Given the description of an element on the screen output the (x, y) to click on. 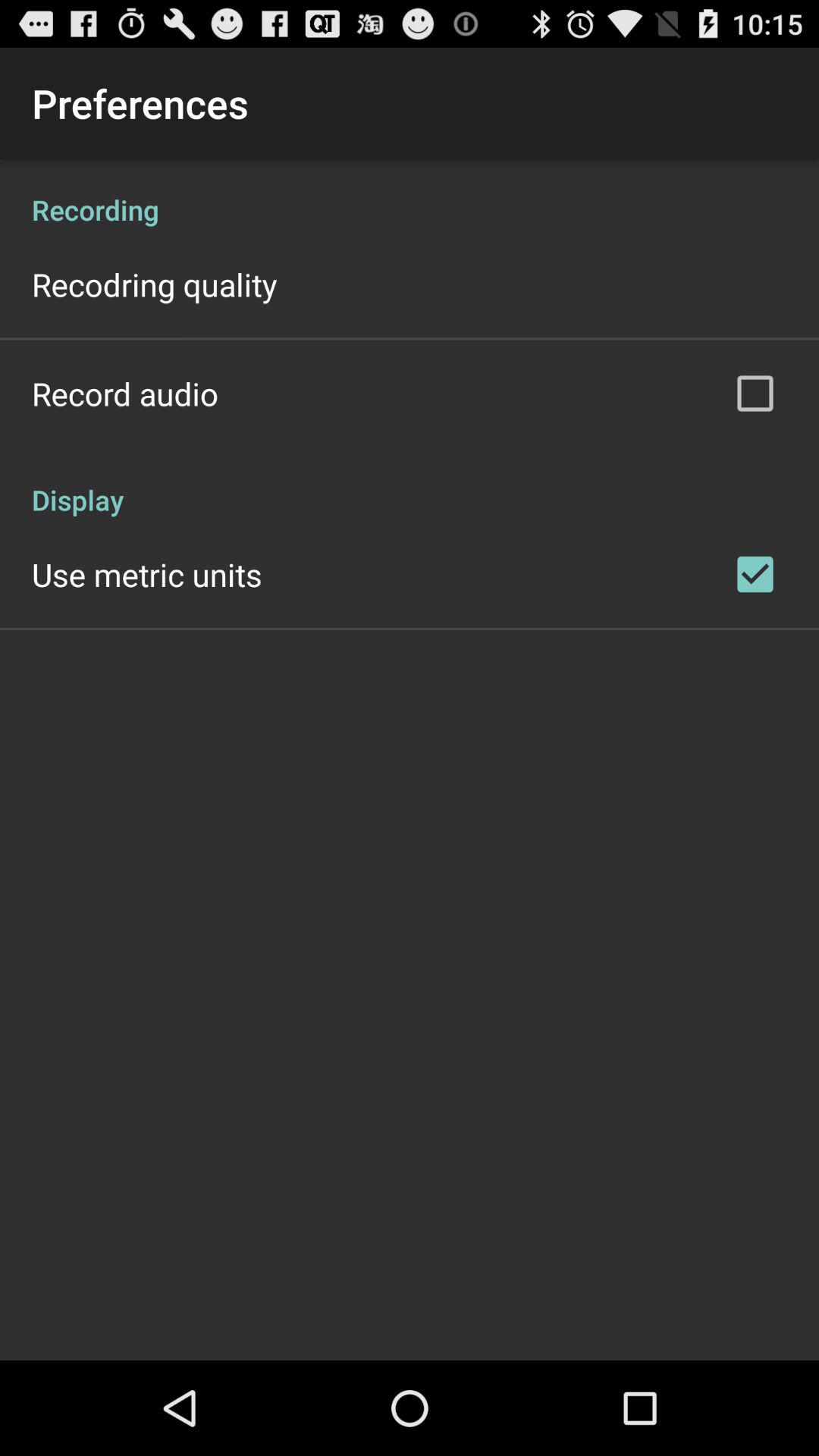
turn on app below recording (154, 283)
